Given the description of an element on the screen output the (x, y) to click on. 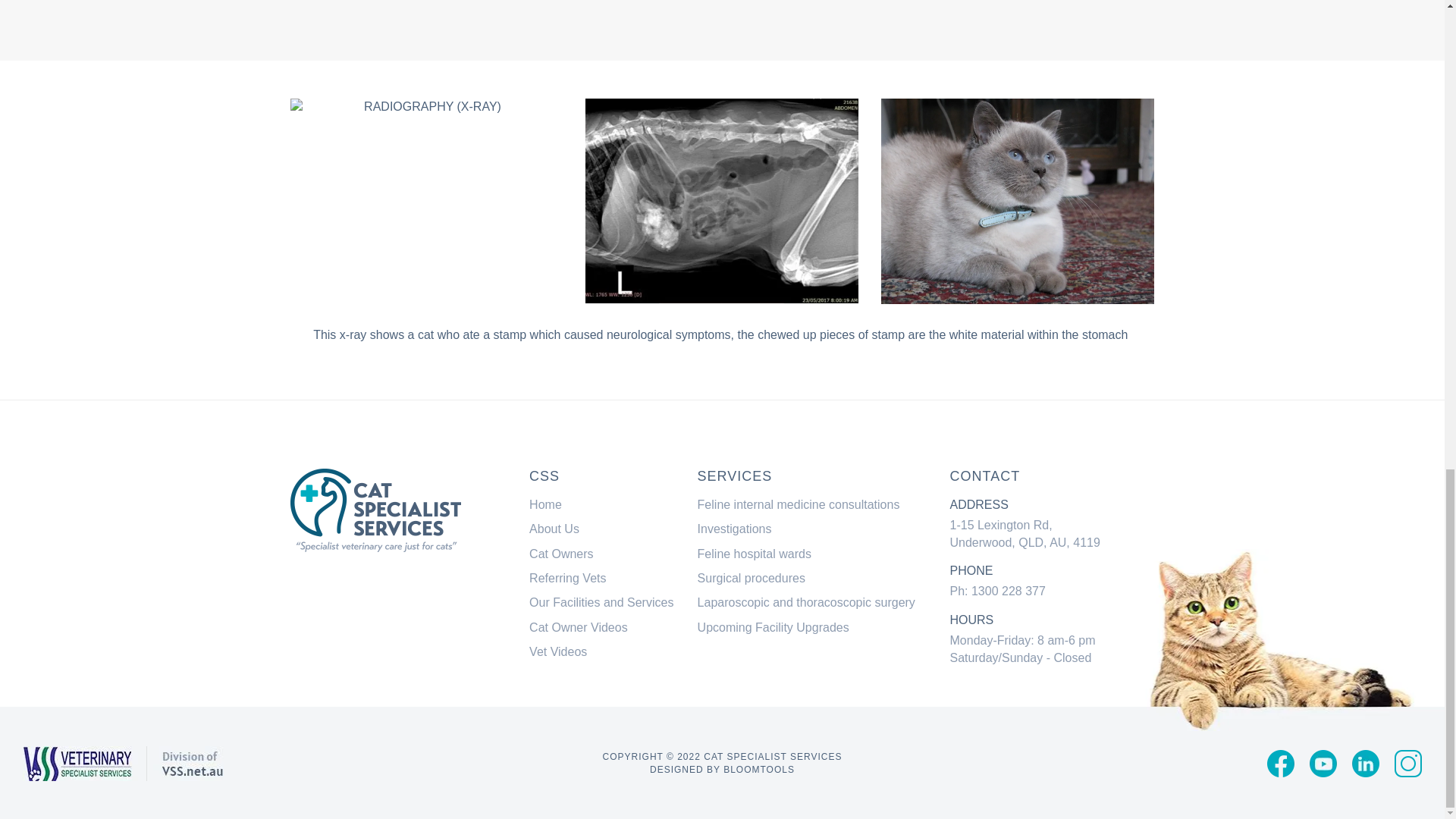
Home (545, 504)
Investigations (734, 528)
Our Facilities and Services (600, 602)
Feline internal medicine consultations (798, 504)
Vet Videos (557, 651)
Cat Owners (560, 553)
Referring Vets (567, 577)
VSS Feeline Division (374, 509)
Cat Owner Videos (578, 626)
About Us (554, 528)
